Given the description of an element on the screen output the (x, y) to click on. 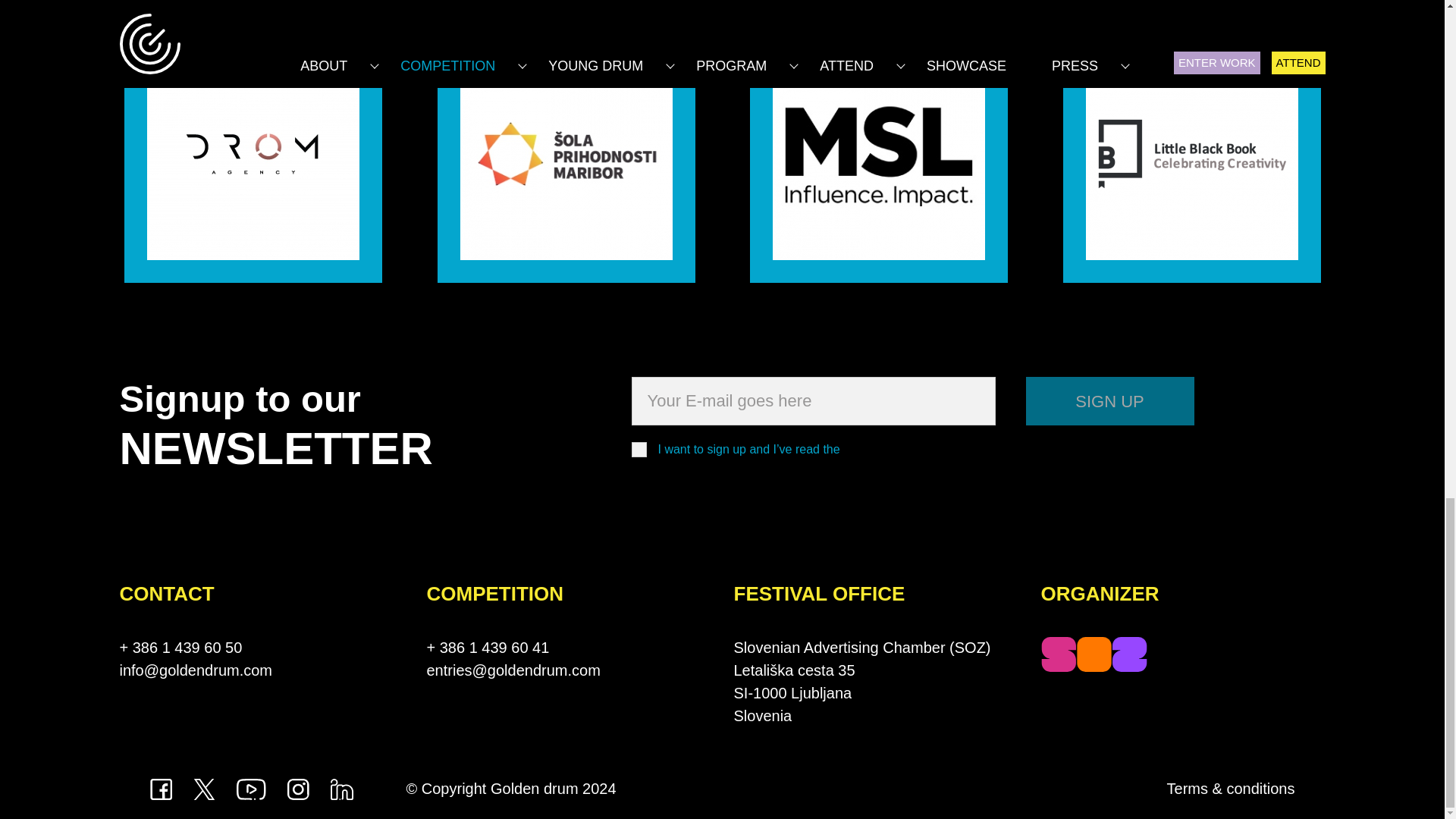
on (638, 449)
